Given the description of an element on the screen output the (x, y) to click on. 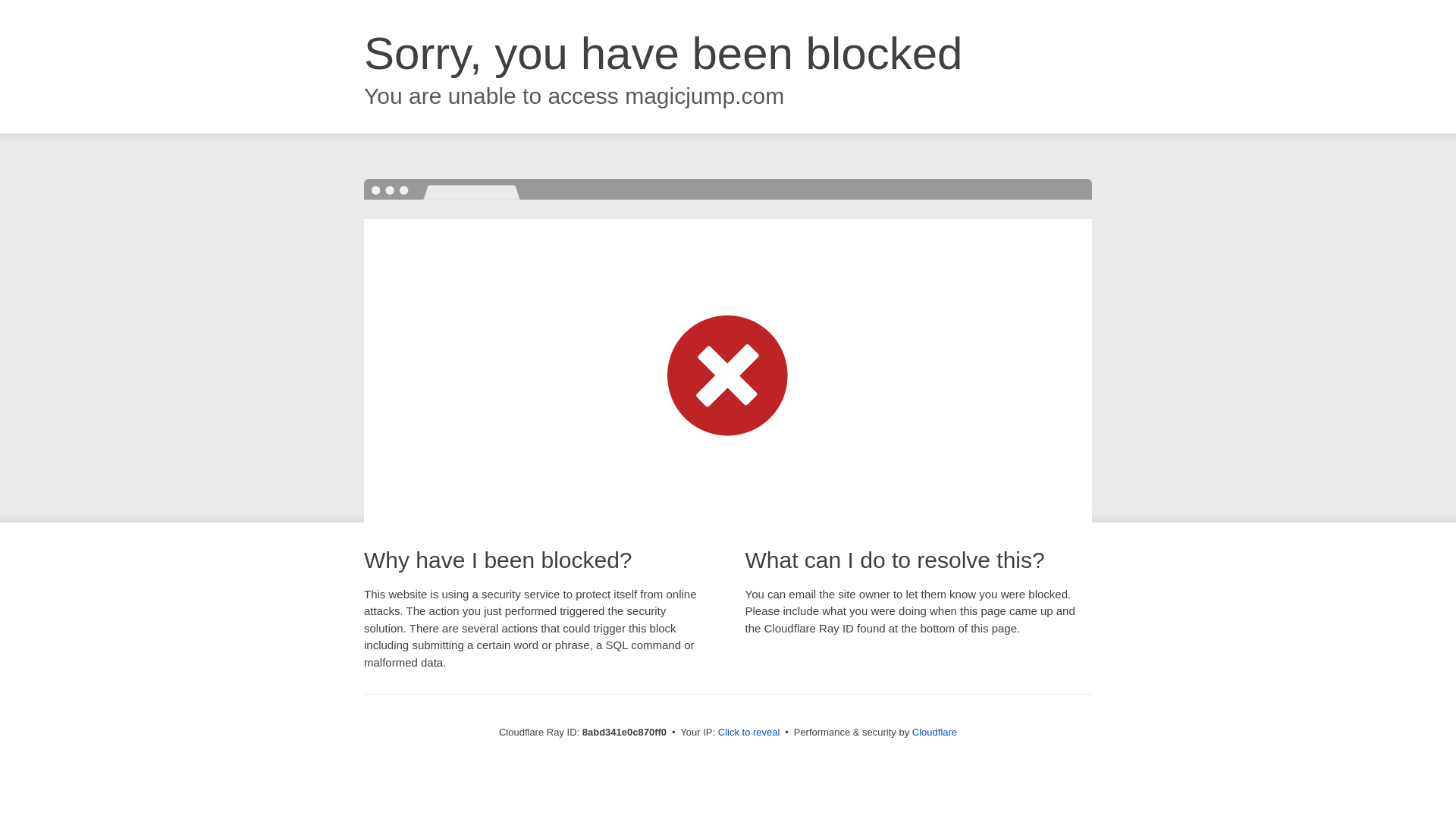
Cloudflare (934, 731)
Click to reveal (748, 732)
